Given the description of an element on the screen output the (x, y) to click on. 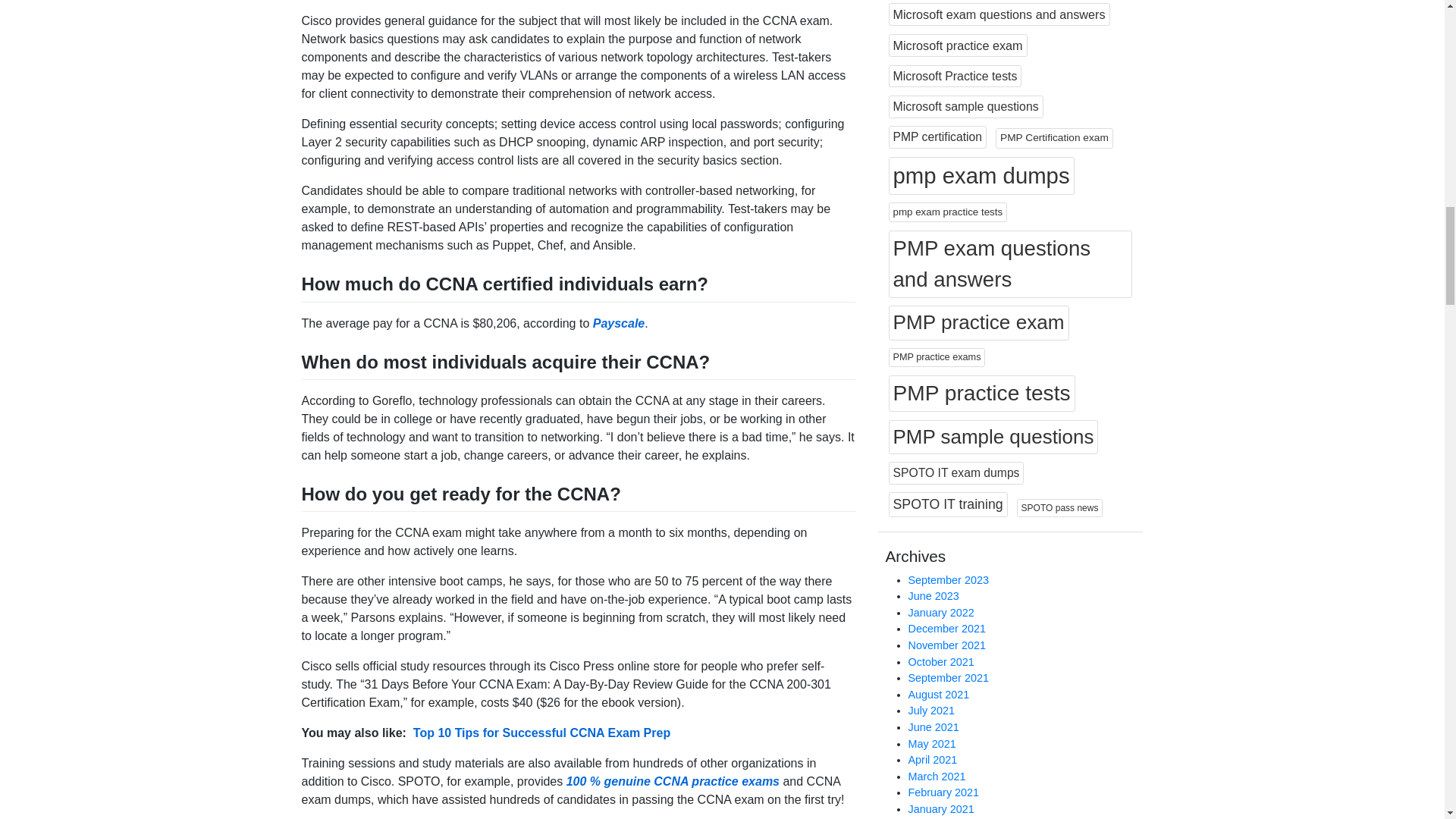
Top 10 Tips for Successful CCNA Exam Prep (541, 732)
